Given the description of an element on the screen output the (x, y) to click on. 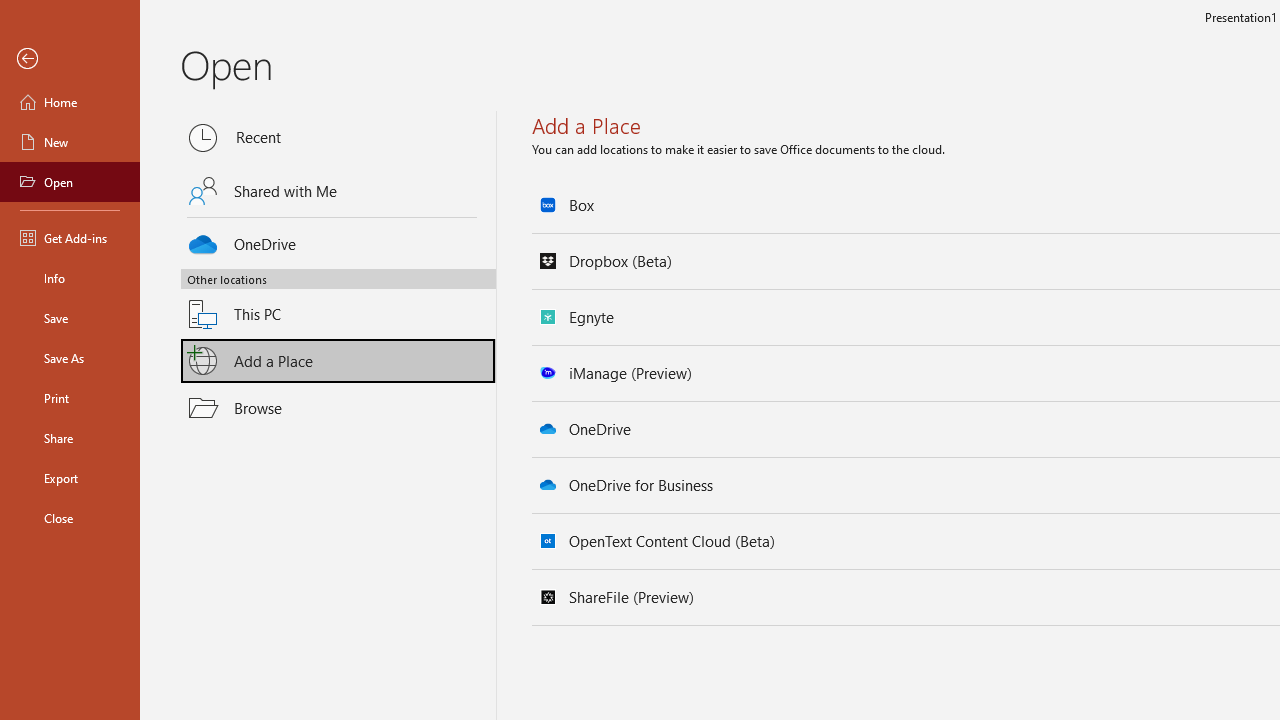
Back (69, 59)
This PC (338, 302)
